Given the description of an element on the screen output the (x, y) to click on. 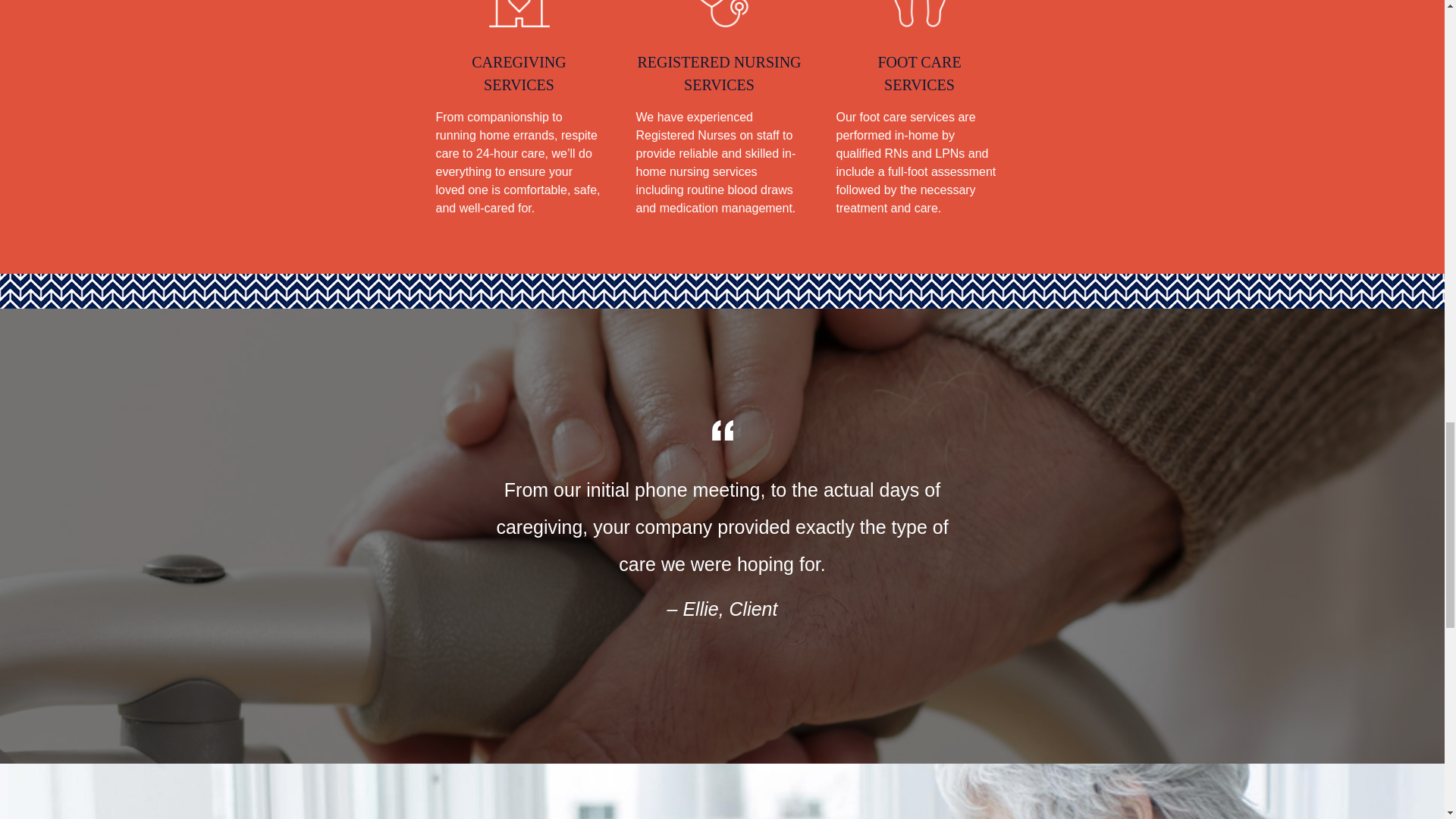
REGISTERED NURSING SERVICES (718, 73)
